Given the description of an element on the screen output the (x, y) to click on. 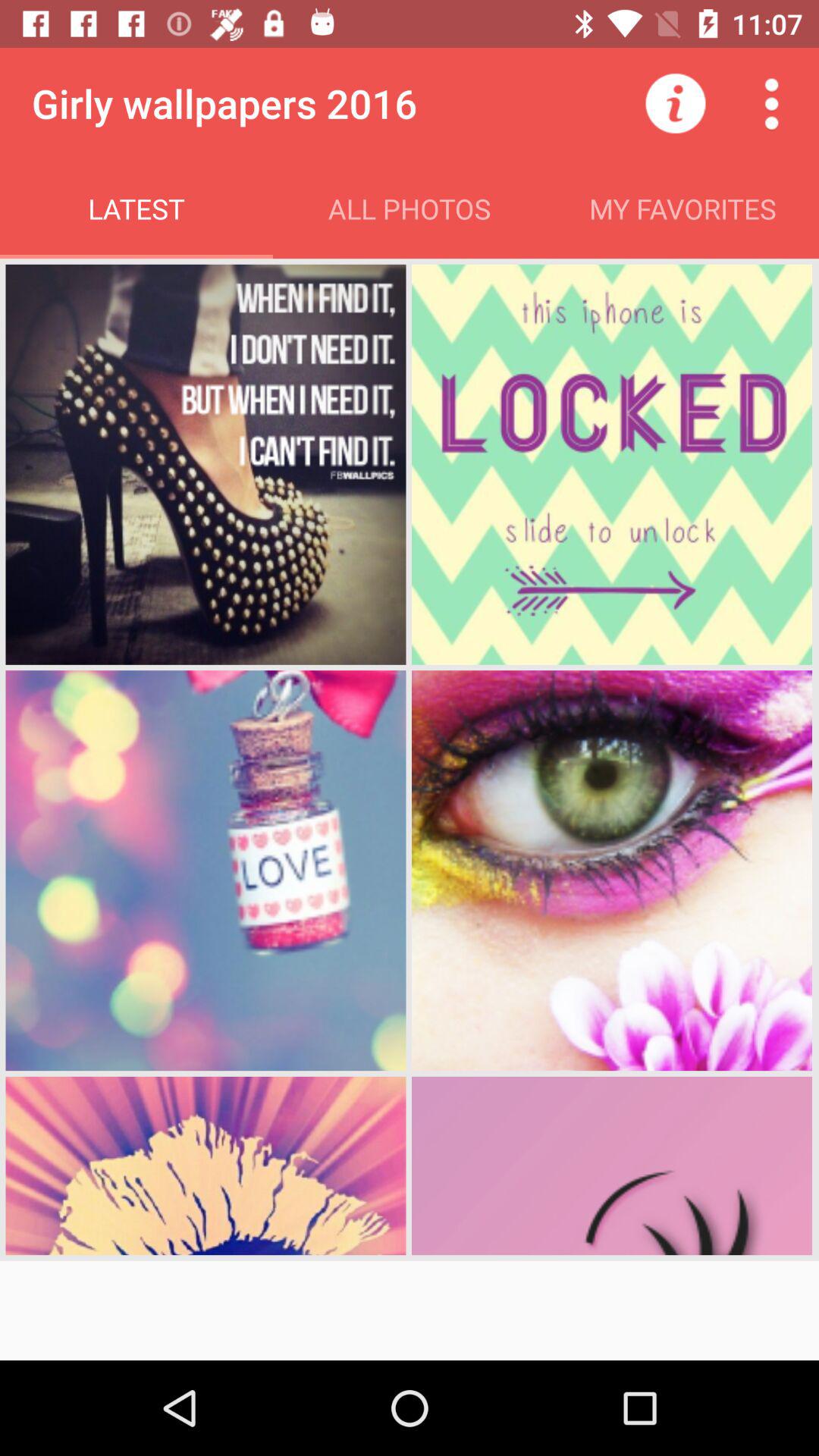
press icon above the my favorites item (675, 103)
